Given the description of an element on the screen output the (x, y) to click on. 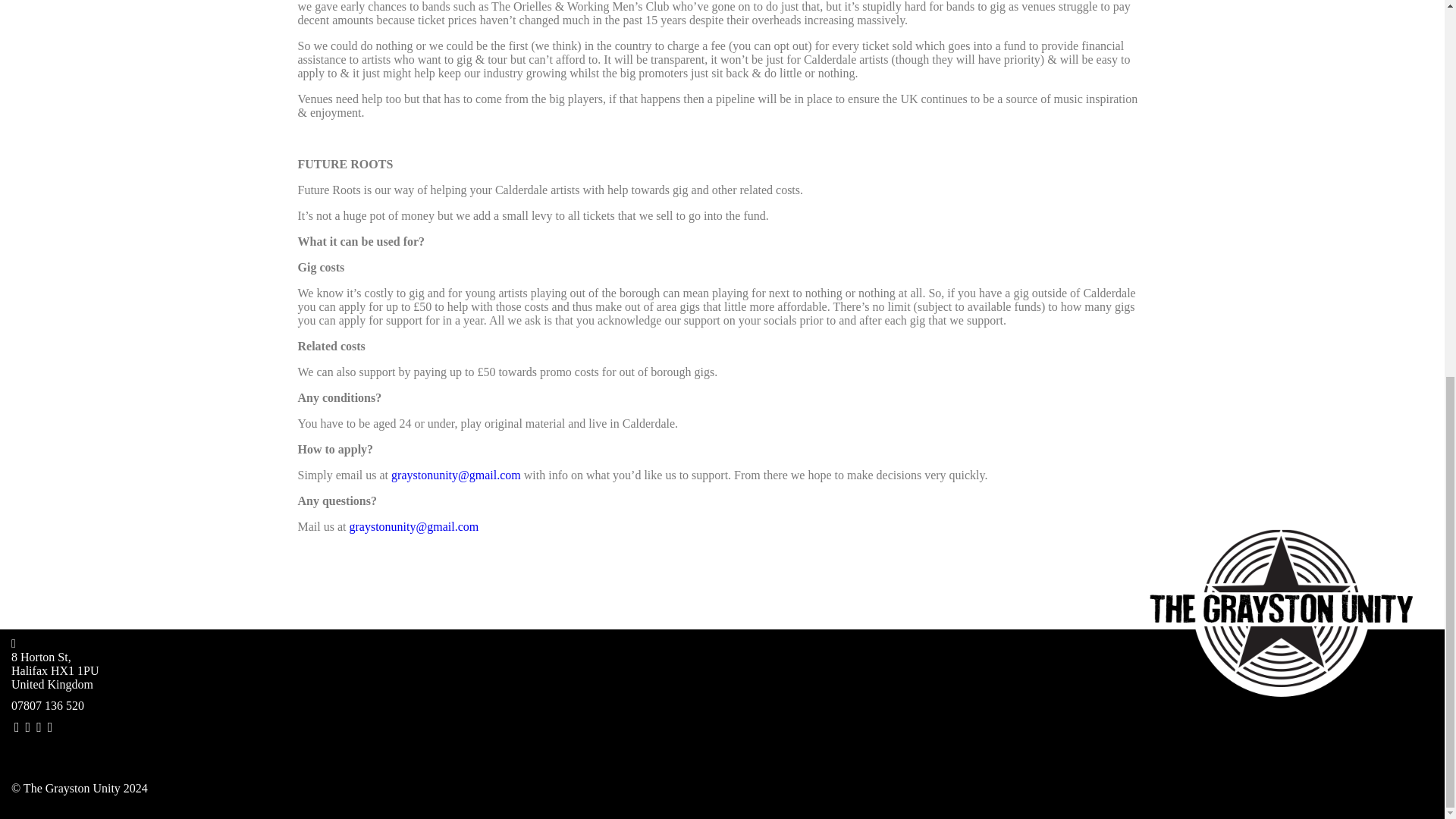
07807 136 520 (47, 705)
